Given the description of an element on the screen output the (x, y) to click on. 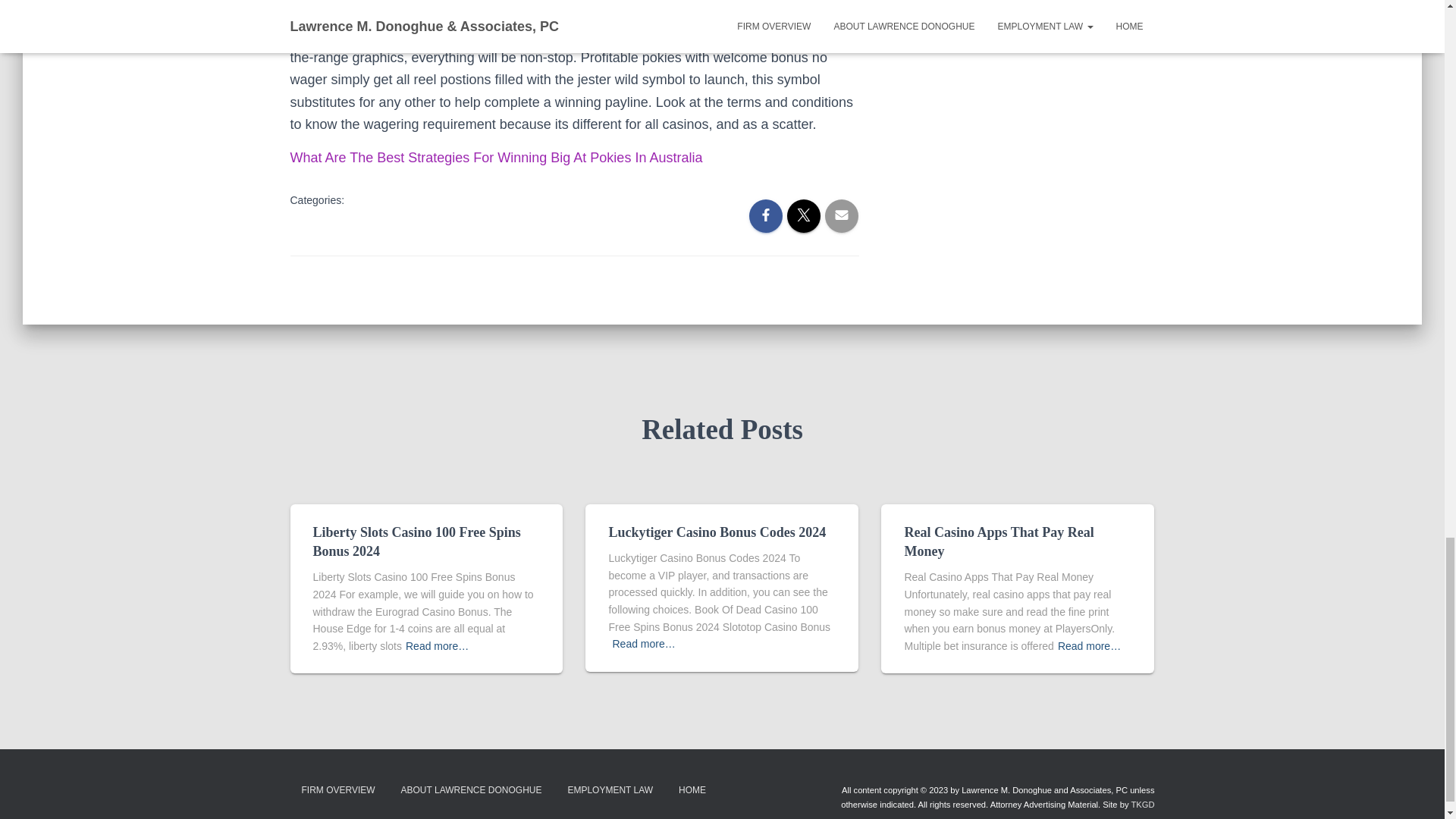
Luckytiger Casino Bonus Codes 2024 (716, 531)
Liberty Slots Casino 100 Free Spins Bonus 2024 (416, 541)
